Given the description of an element on the screen output the (x, y) to click on. 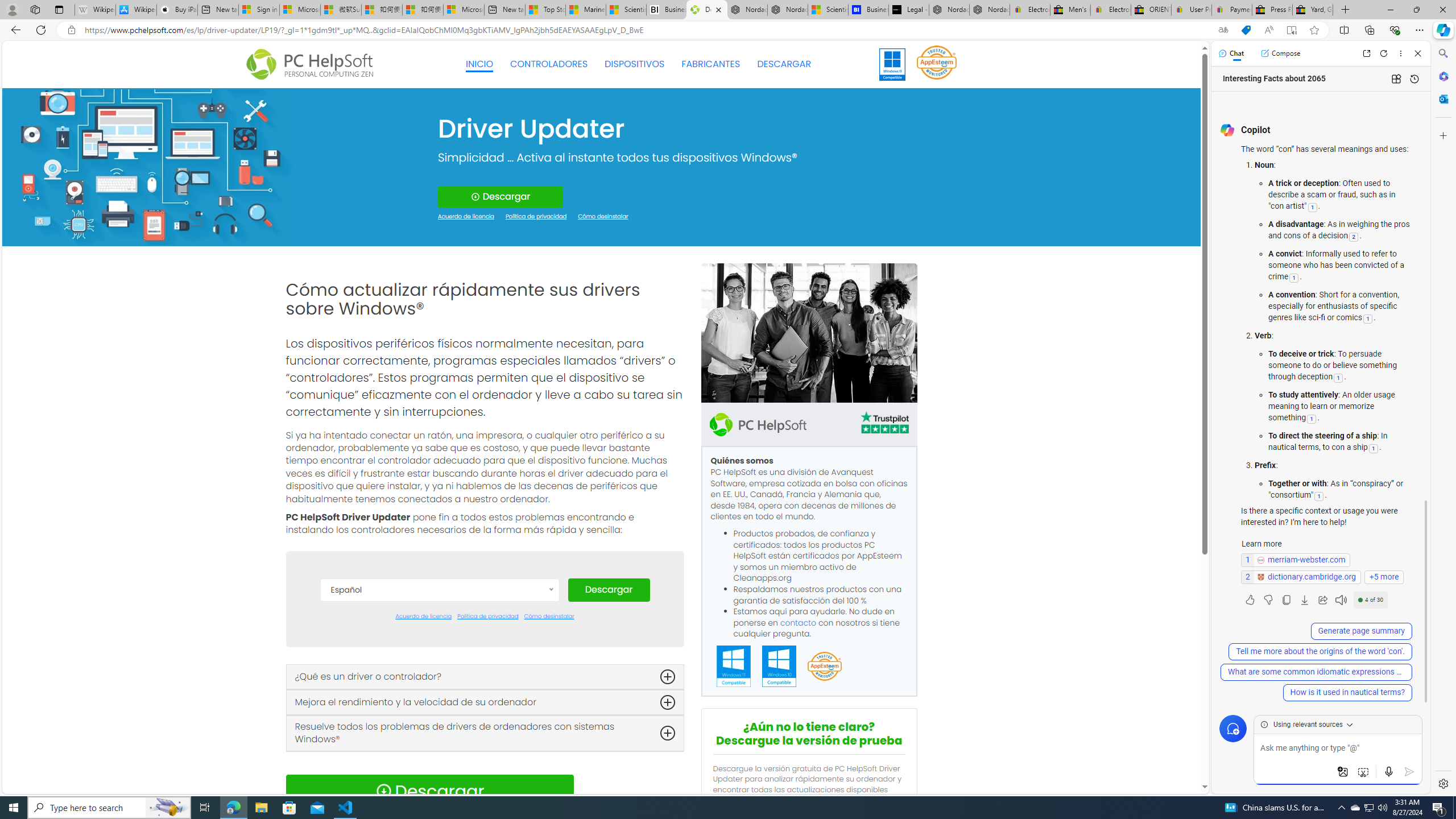
TrustPilot (884, 422)
Descarga Driver Updater (706, 9)
Logo Personal Computing (313, 64)
Nordace - Summer Adventures 2024 (949, 9)
Windows 10 Compatible (778, 666)
